Given the description of an element on the screen output the (x, y) to click on. 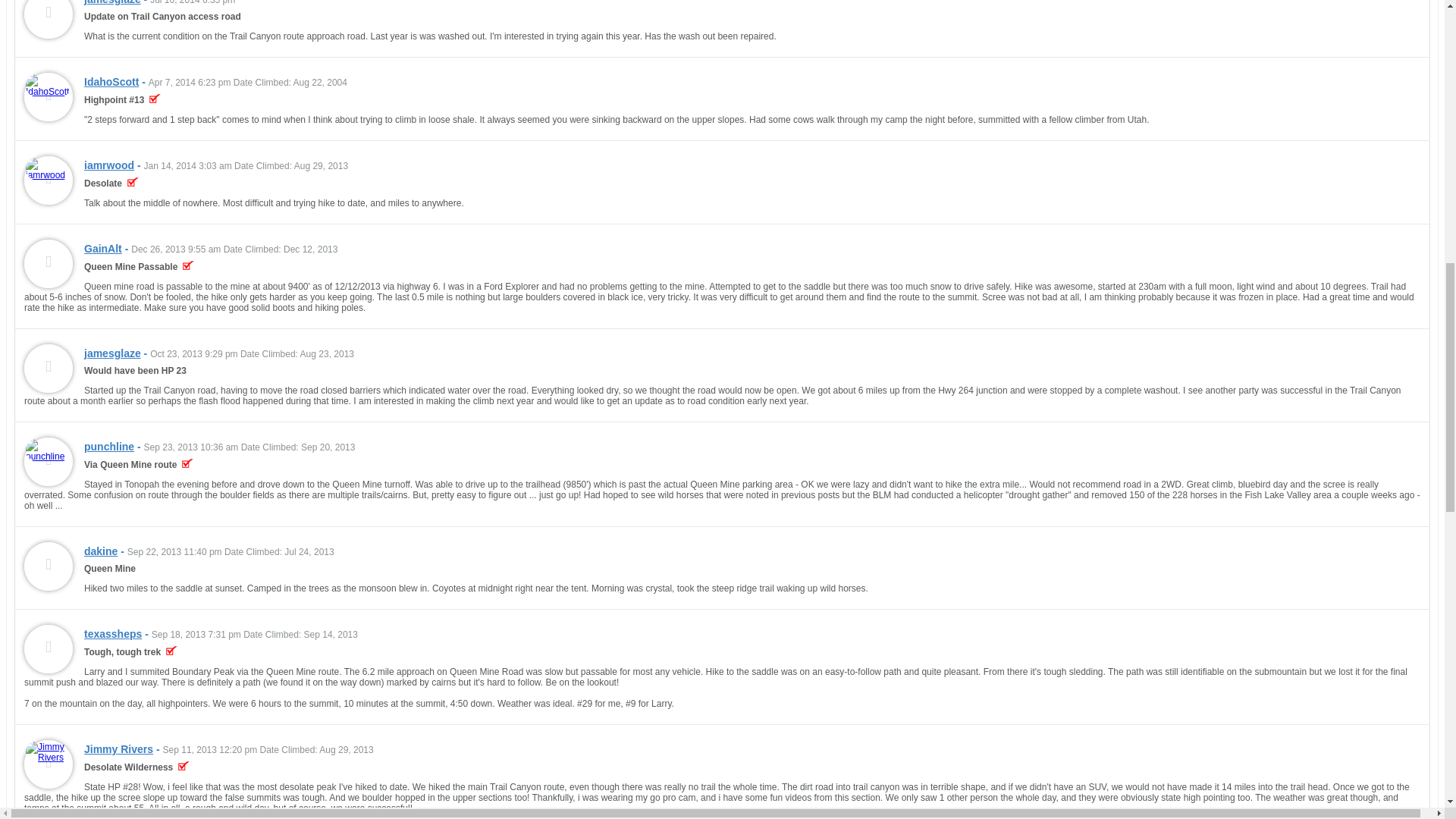
Success! (133, 183)
Success! (188, 266)
Success! (154, 100)
